Given the description of an element on the screen output the (x, y) to click on. 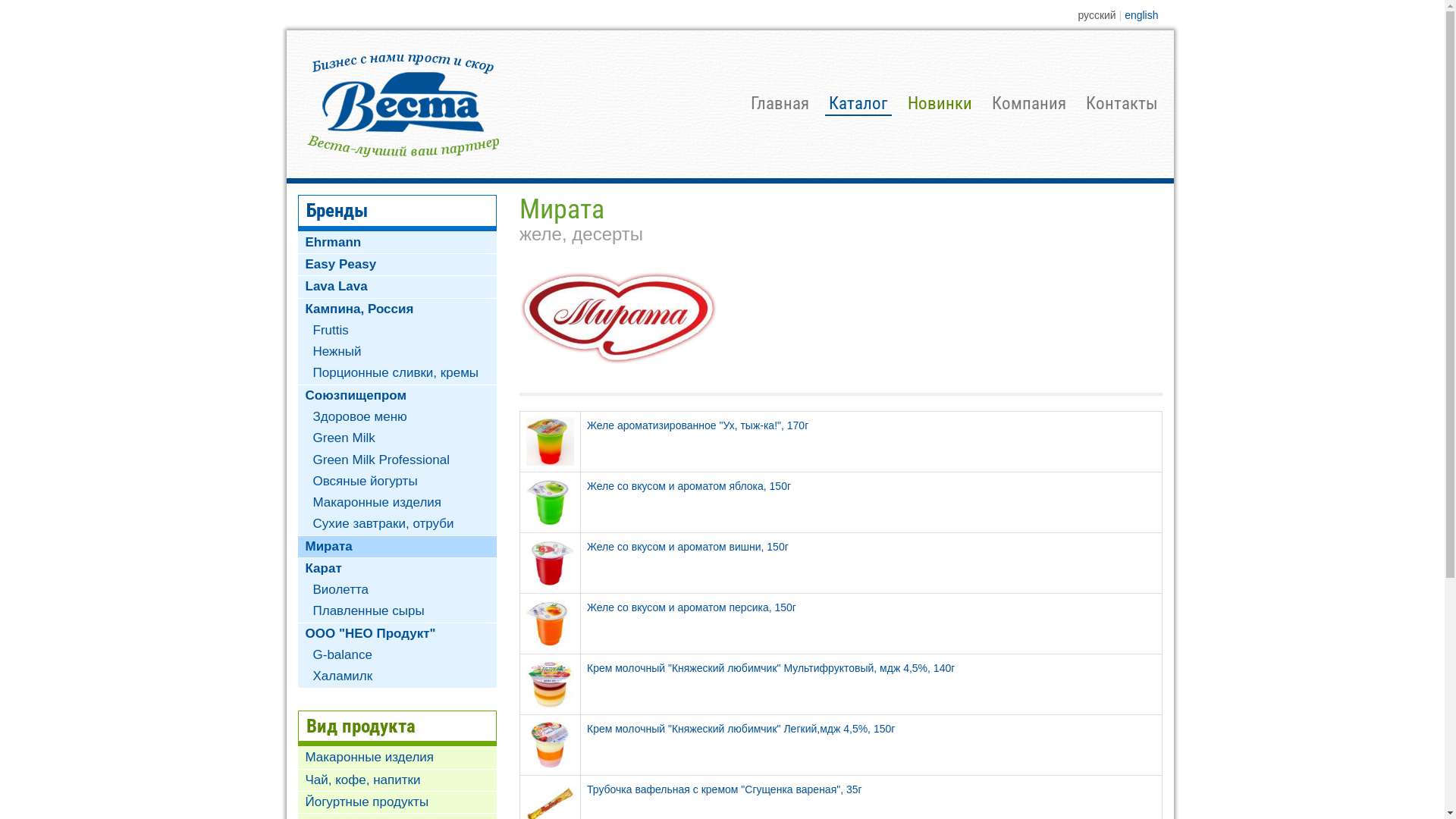
Ehrmann Element type: text (396, 242)
Lava Lava Element type: text (396, 286)
Fruttis Element type: text (396, 330)
G-balance Element type: text (396, 654)
Green Milk Element type: text (396, 437)
Easy Peasy Element type: text (396, 264)
english Element type: text (1140, 15)
Green Milk Professional Element type: text (396, 459)
